Given the description of an element on the screen output the (x, y) to click on. 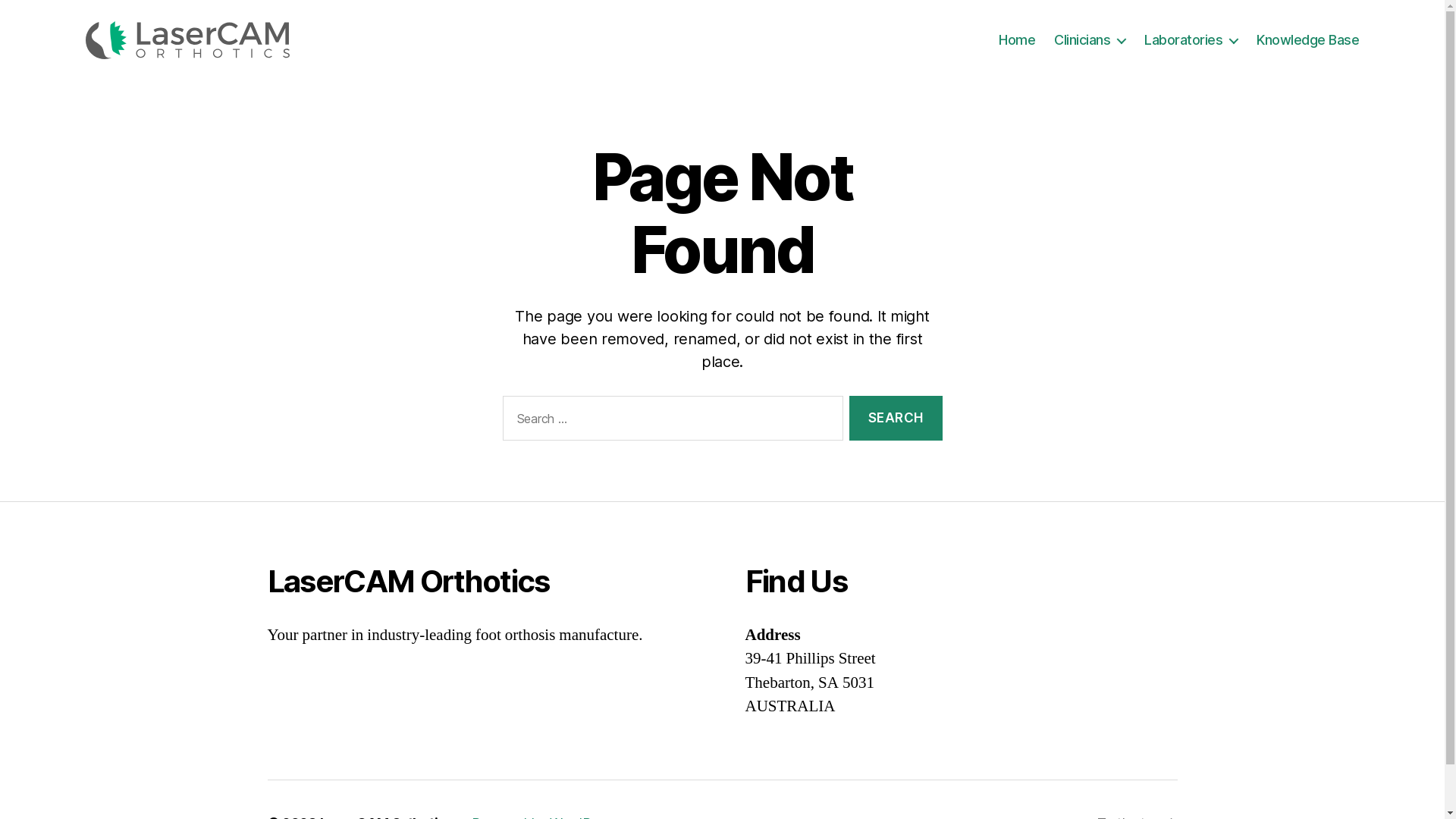
Home Element type: text (1016, 39)
Laboratories Element type: text (1190, 39)
Knowledge Base Element type: text (1307, 39)
Search Element type: text (895, 417)
Clinicians Element type: text (1089, 39)
